Given the description of an element on the screen output the (x, y) to click on. 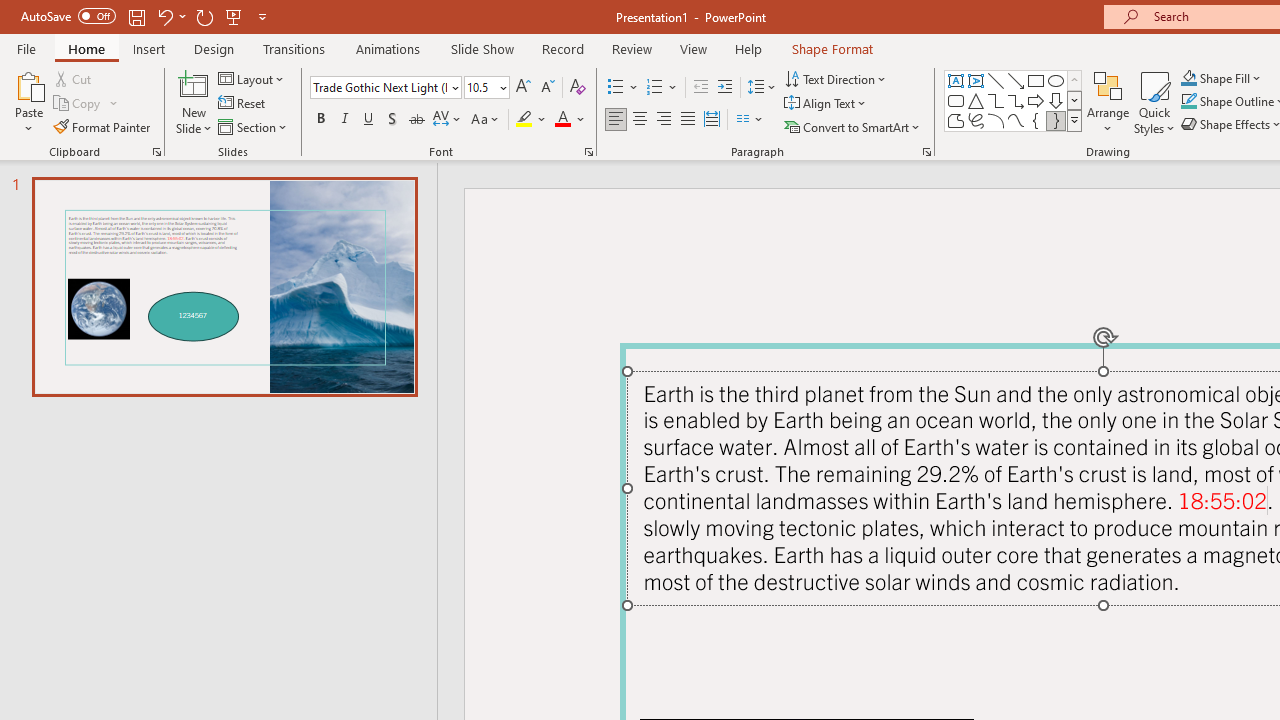
Shape Outline Teal, Accent 1 (1188, 101)
